Given the description of an element on the screen output the (x, y) to click on. 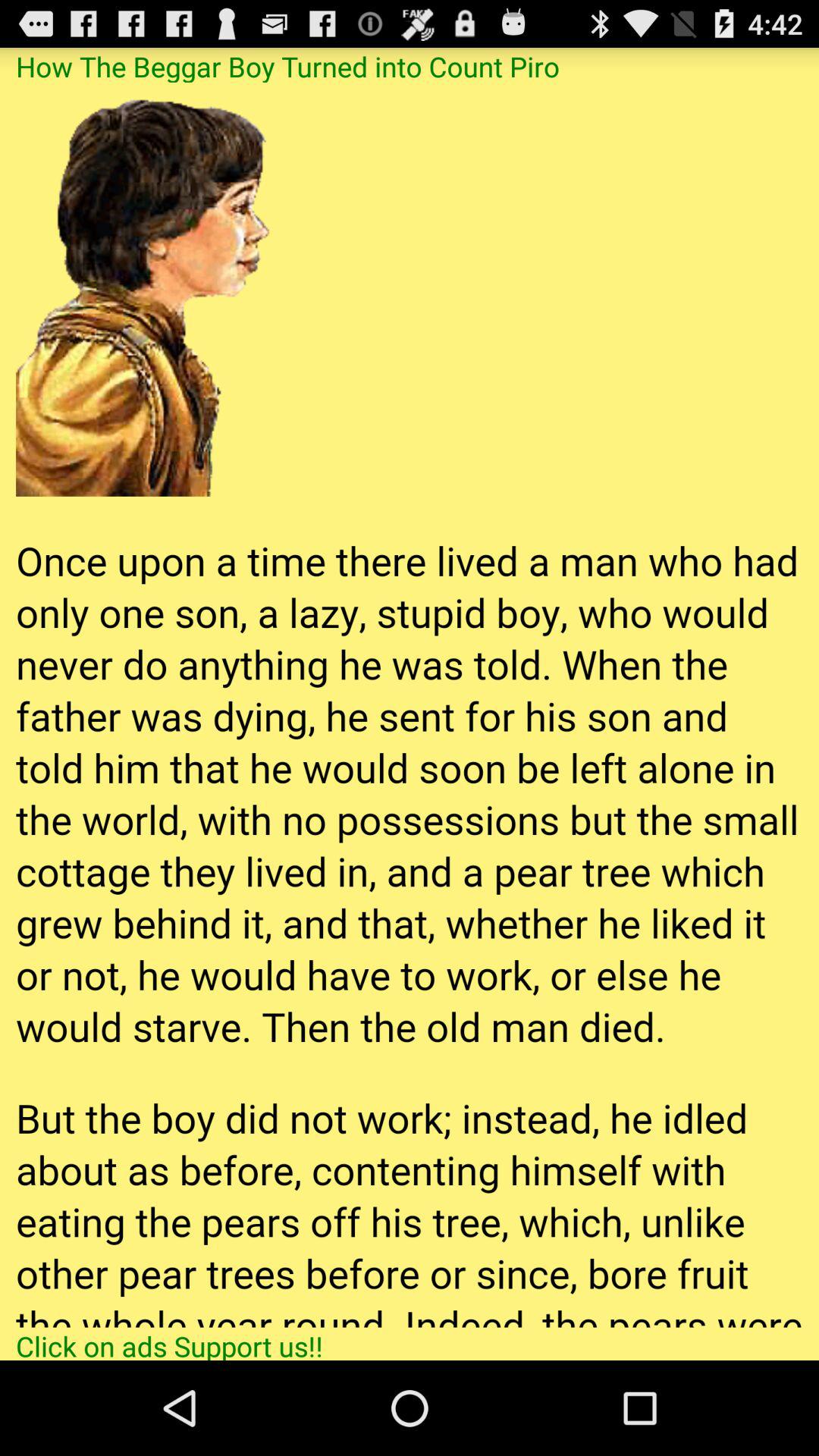
dynamic reading (409, 704)
